Given the description of an element on the screen output the (x, y) to click on. 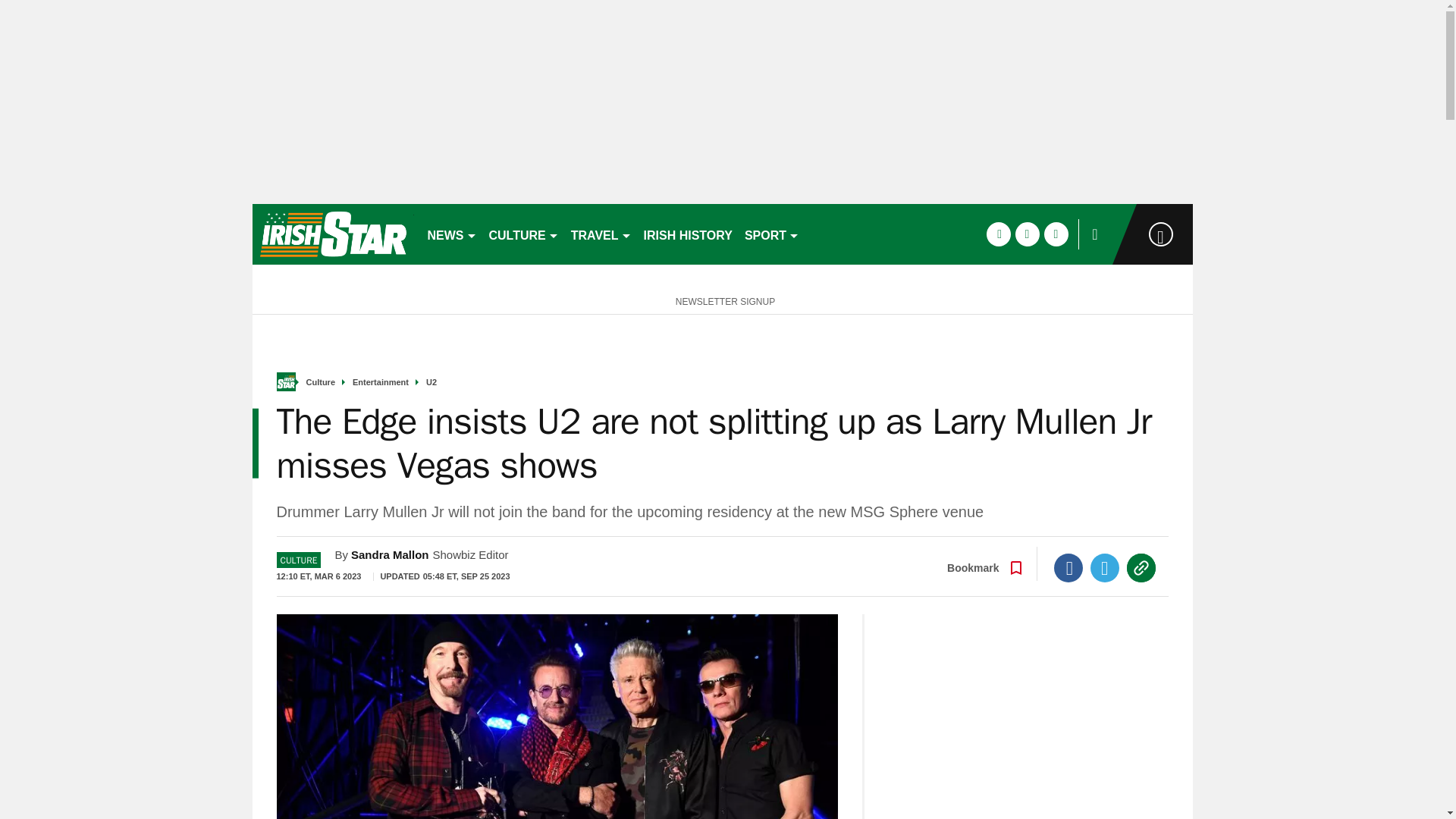
twitter (1026, 233)
frontpage (285, 381)
U2 (431, 382)
TRAVEL (600, 233)
NEWSLETTER SIGNUP (721, 300)
Entertainment (380, 382)
SPORT (771, 233)
Facebook (1068, 567)
NEWS (452, 233)
irishstar (332, 233)
